Given the description of an element on the screen output the (x, y) to click on. 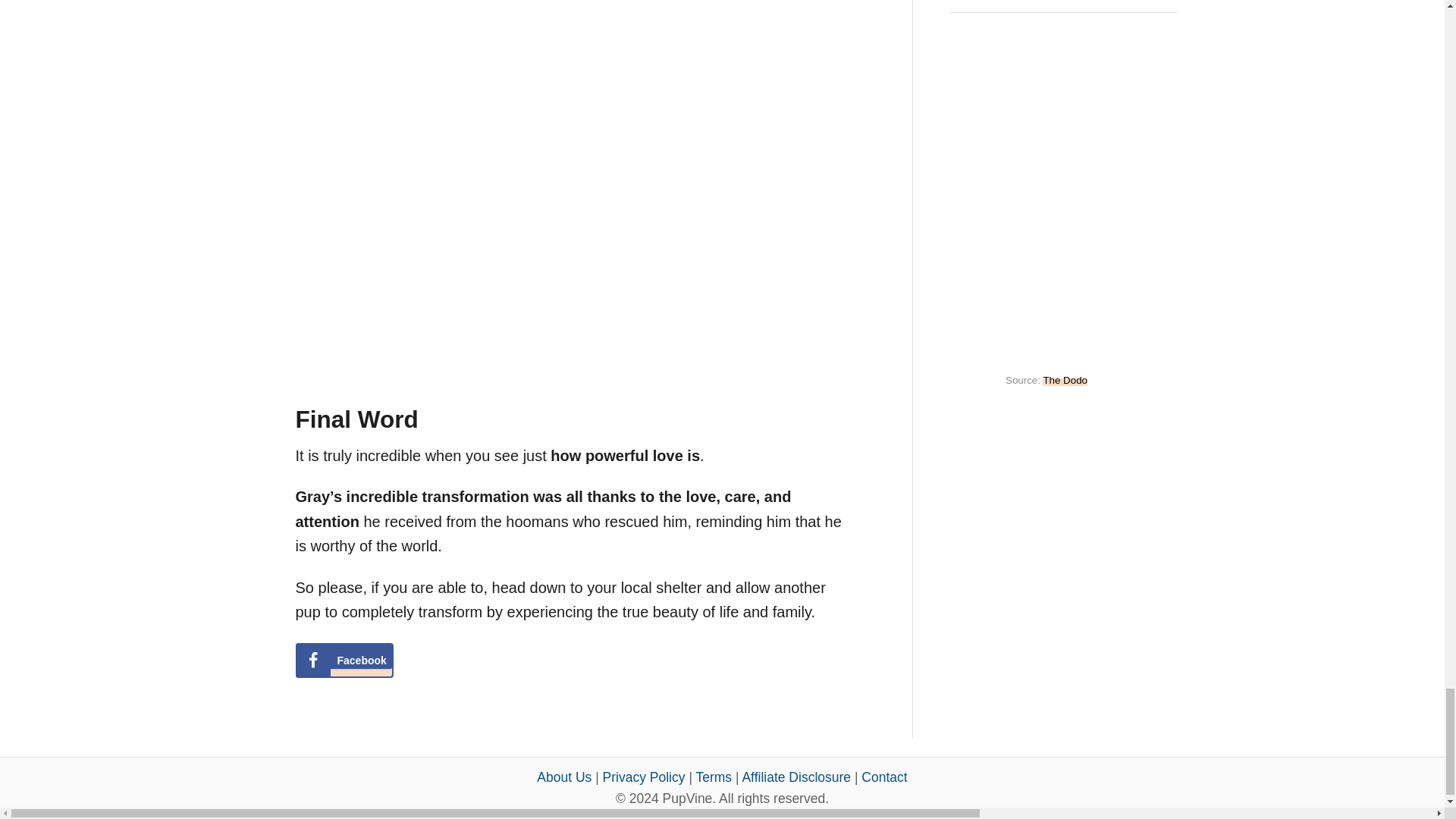
About Us (564, 776)
The Dodo (1064, 379)
Facebook (344, 660)
Share on Facebook (344, 660)
